Given the description of an element on the screen output the (x, y) to click on. 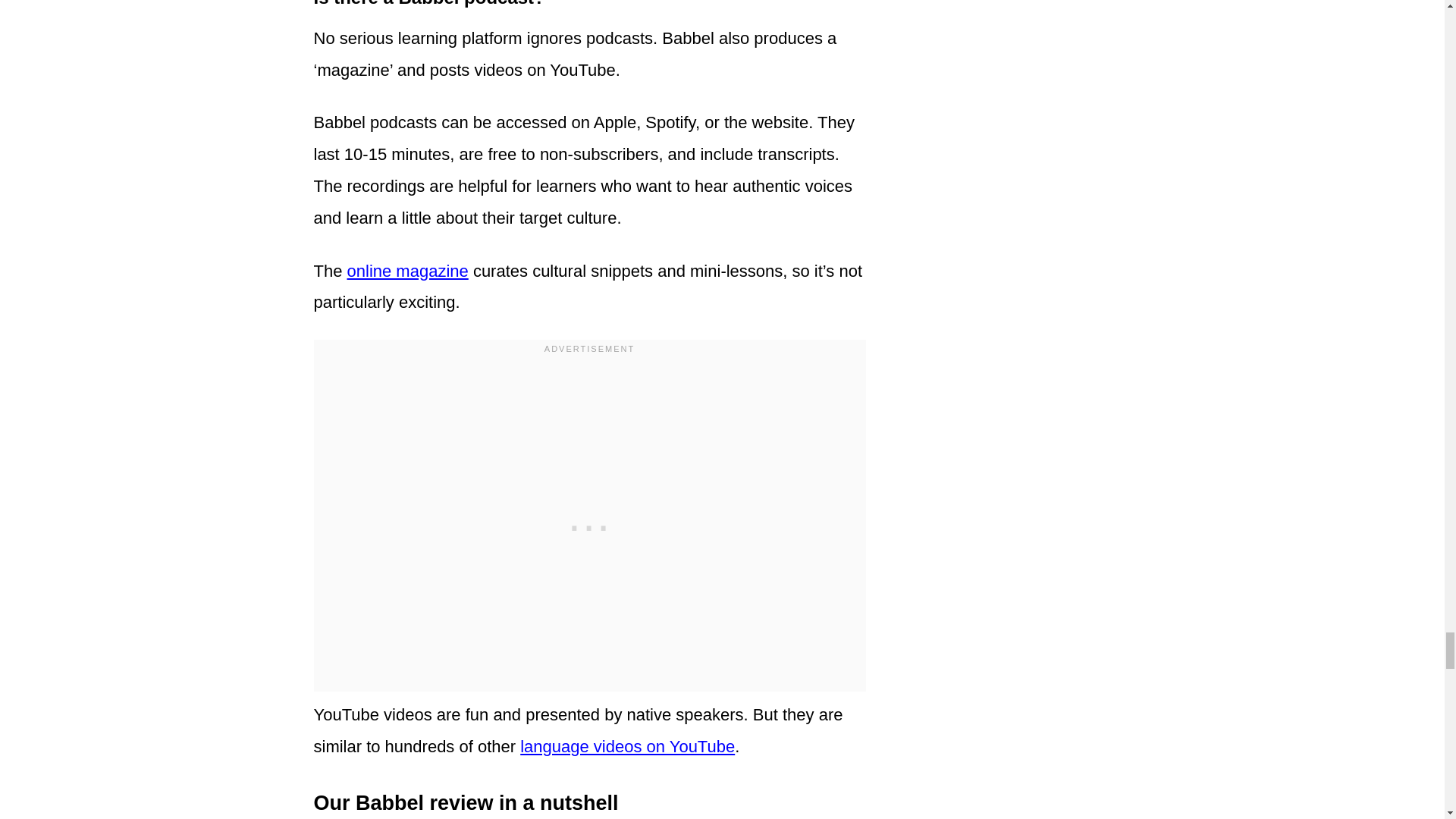
language videos on YouTube (627, 746)
online magazine (407, 270)
